Given the description of an element on the screen output the (x, y) to click on. 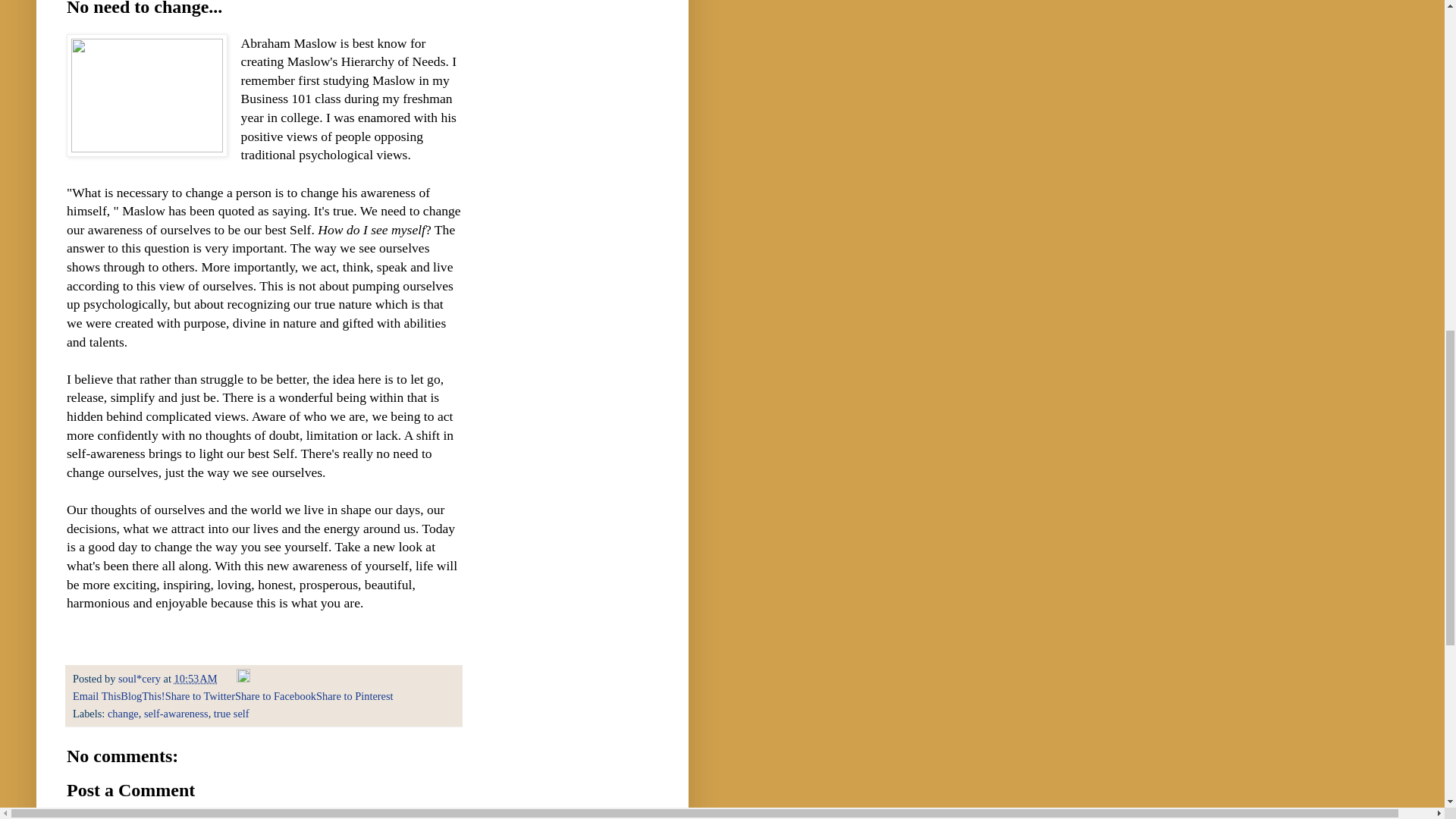
Share to Twitter (199, 695)
Share to Facebook (274, 695)
true self (231, 713)
author profile (140, 678)
permanent link (195, 678)
Email This (96, 695)
Share to Pinterest (354, 695)
BlogThis! (142, 695)
BlogThis! (142, 695)
